Given the description of an element on the screen output the (x, y) to click on. 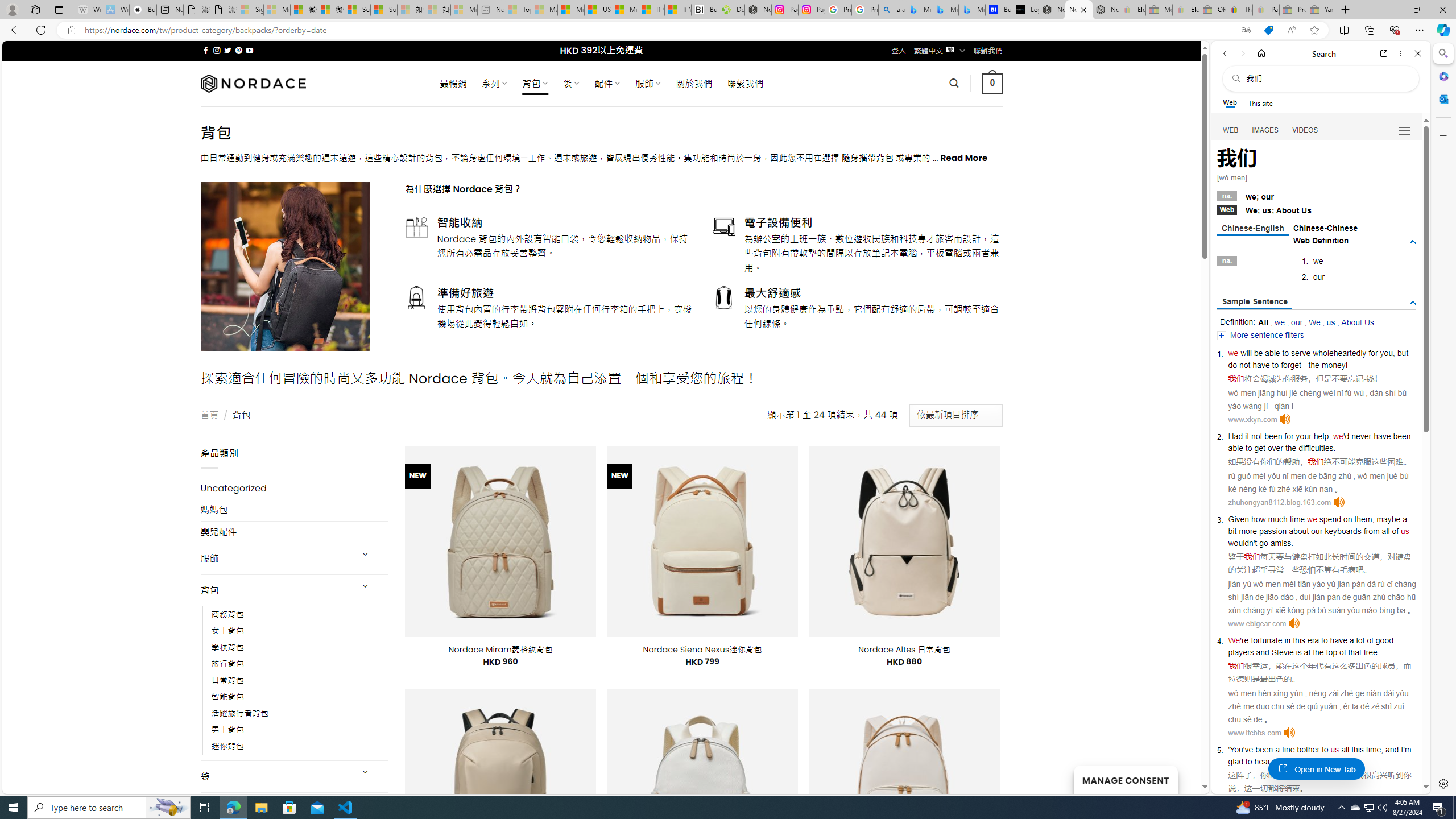
and (1262, 651)
difficulties (1315, 447)
Web Definition (1321, 240)
lot (1360, 640)
